Given the description of an element on the screen output the (x, y) to click on. 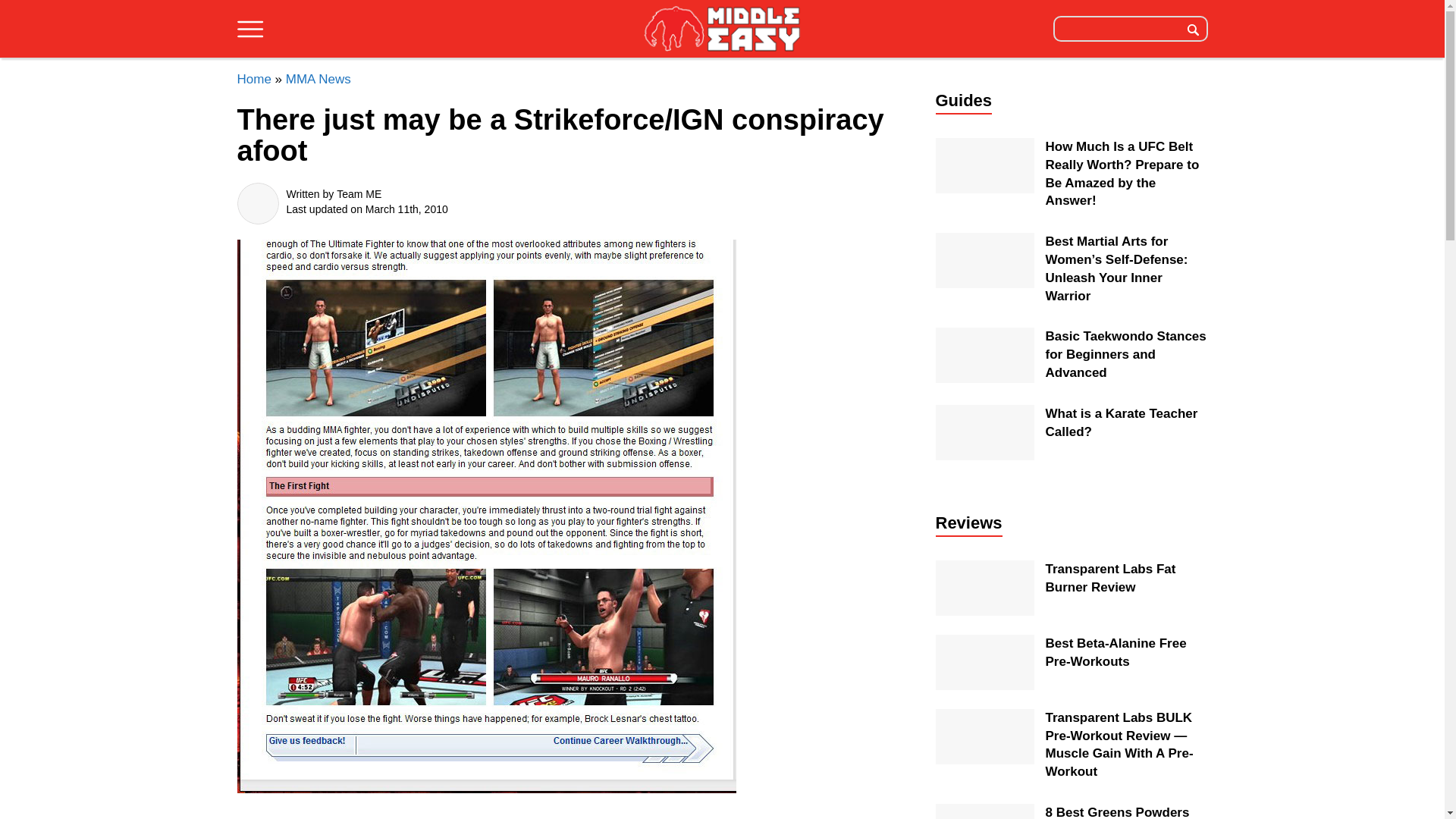
MiddleEasy (721, 28)
MiddleEasy (721, 29)
GO (1193, 28)
